Given the description of an element on the screen output the (x, y) to click on. 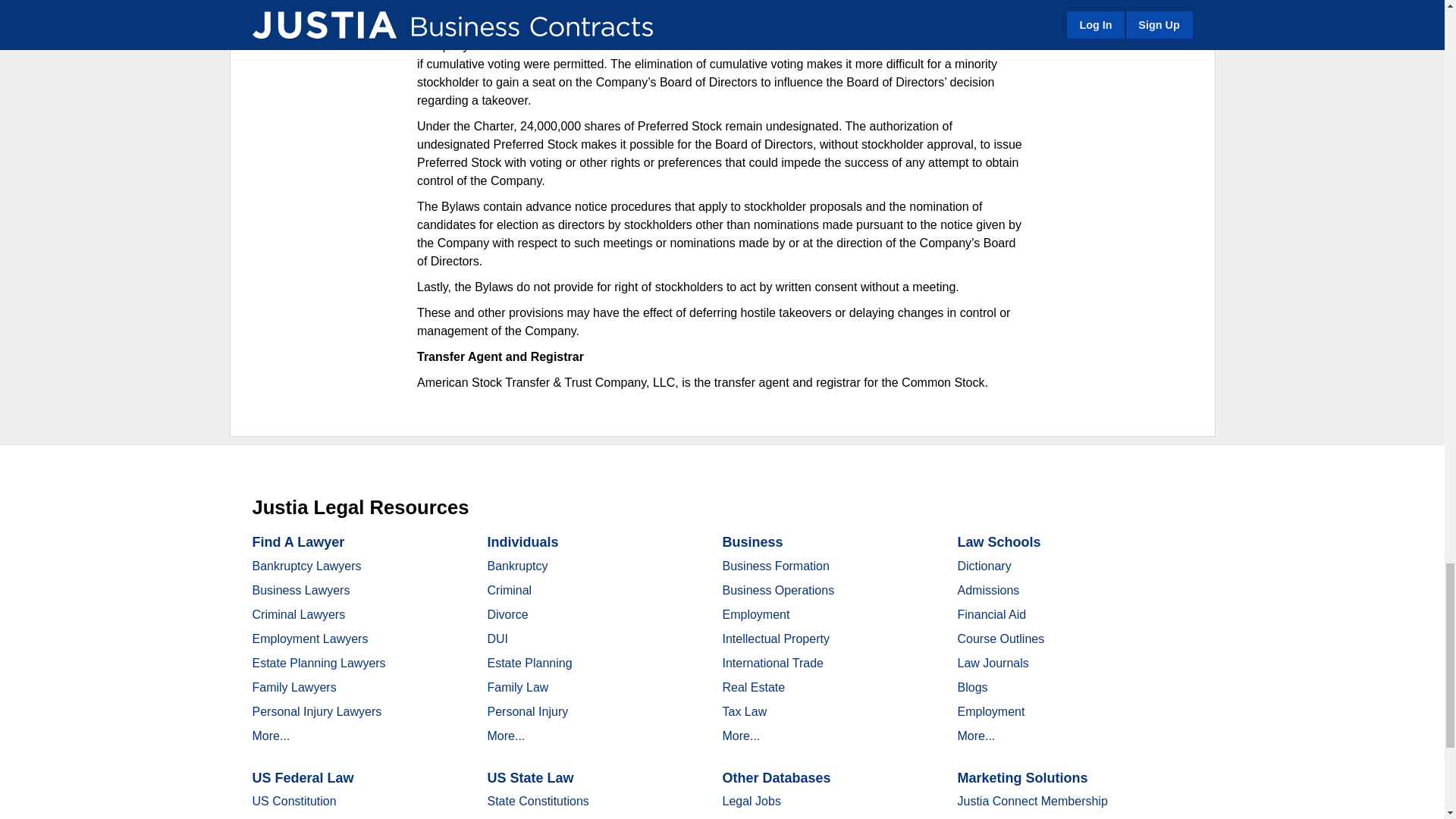
Business Lawyers (300, 590)
Family Lawyers (293, 686)
Find A Lawyer (297, 541)
Estate Planning Lawyers (318, 662)
Individuals (521, 541)
Bankruptcy Lawyers (306, 565)
Personal Injury Lawyers (316, 711)
Bankruptcy (516, 565)
Employment Lawyers (309, 638)
Criminal Lawyers (298, 614)
More... (270, 735)
